Given the description of an element on the screen output the (x, y) to click on. 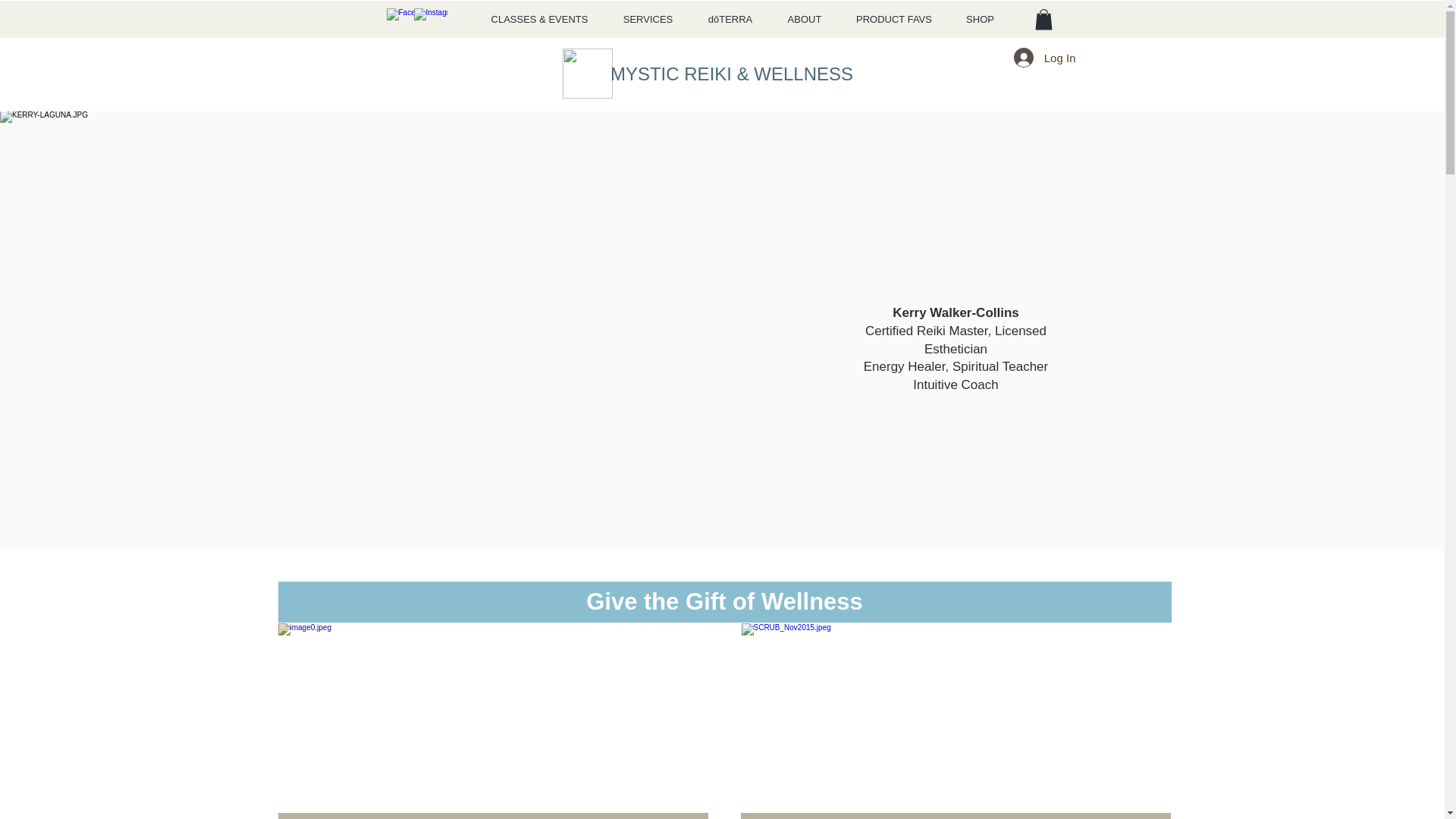
PRODUCT FAVS (893, 19)
SERVICES (647, 19)
Give the Gift of Wellness (724, 601)
Log In (1044, 57)
ABOUT (805, 19)
SHOP (980, 19)
